Given the description of an element on the screen output the (x, y) to click on. 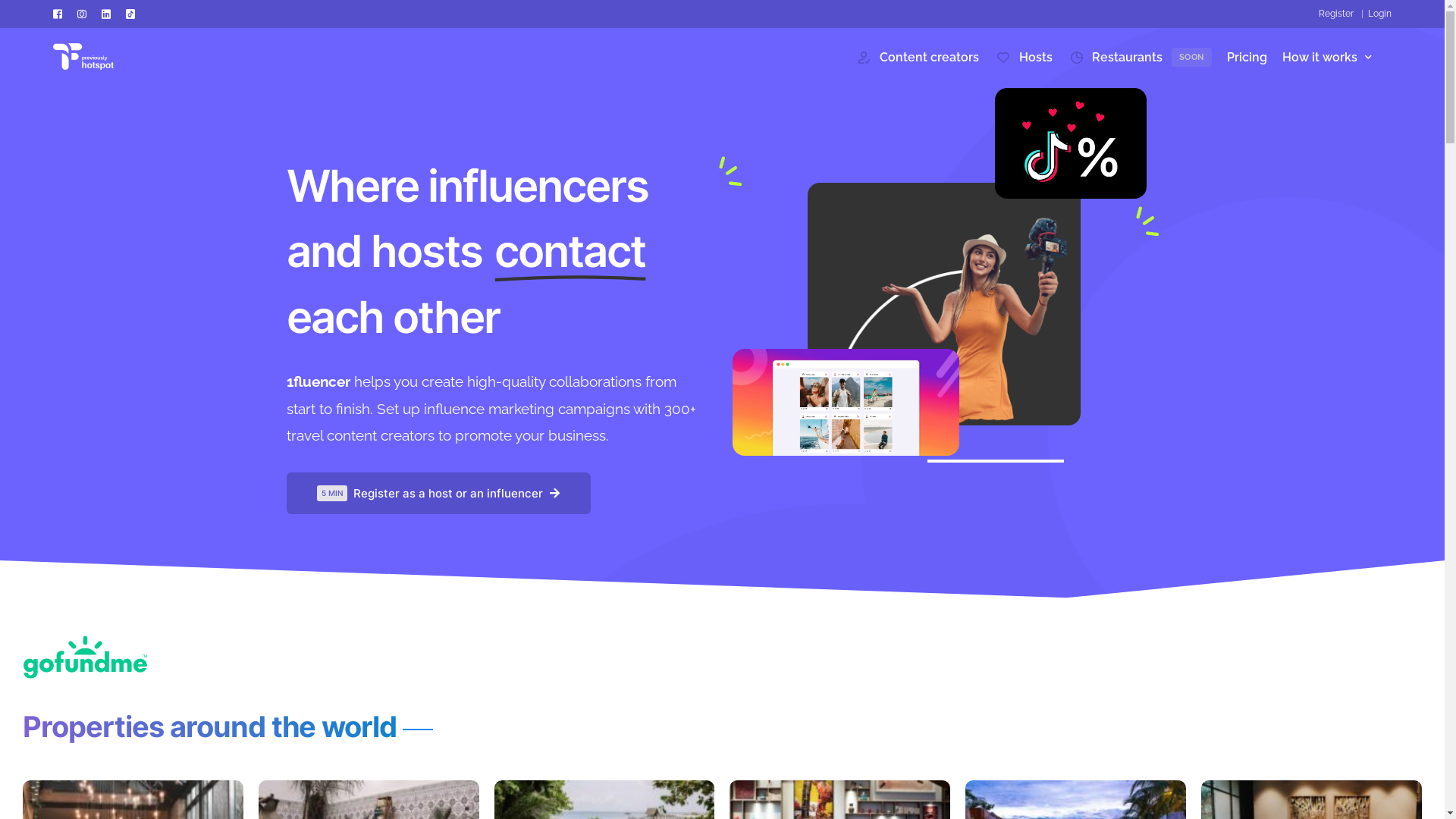
Register as a host or an influencer
5 MIN Element type: text (438, 493)
Register Element type: text (1336, 13)
RestaurantsSOON Element type: text (1139, 56)
How it works Element type: text (1323, 56)
Login Element type: text (1377, 13)
Content creators Element type: text (916, 56)
Hosts Element type: text (1023, 56)
Pricing Element type: text (1246, 56)
